Given the description of an element on the screen output the (x, y) to click on. 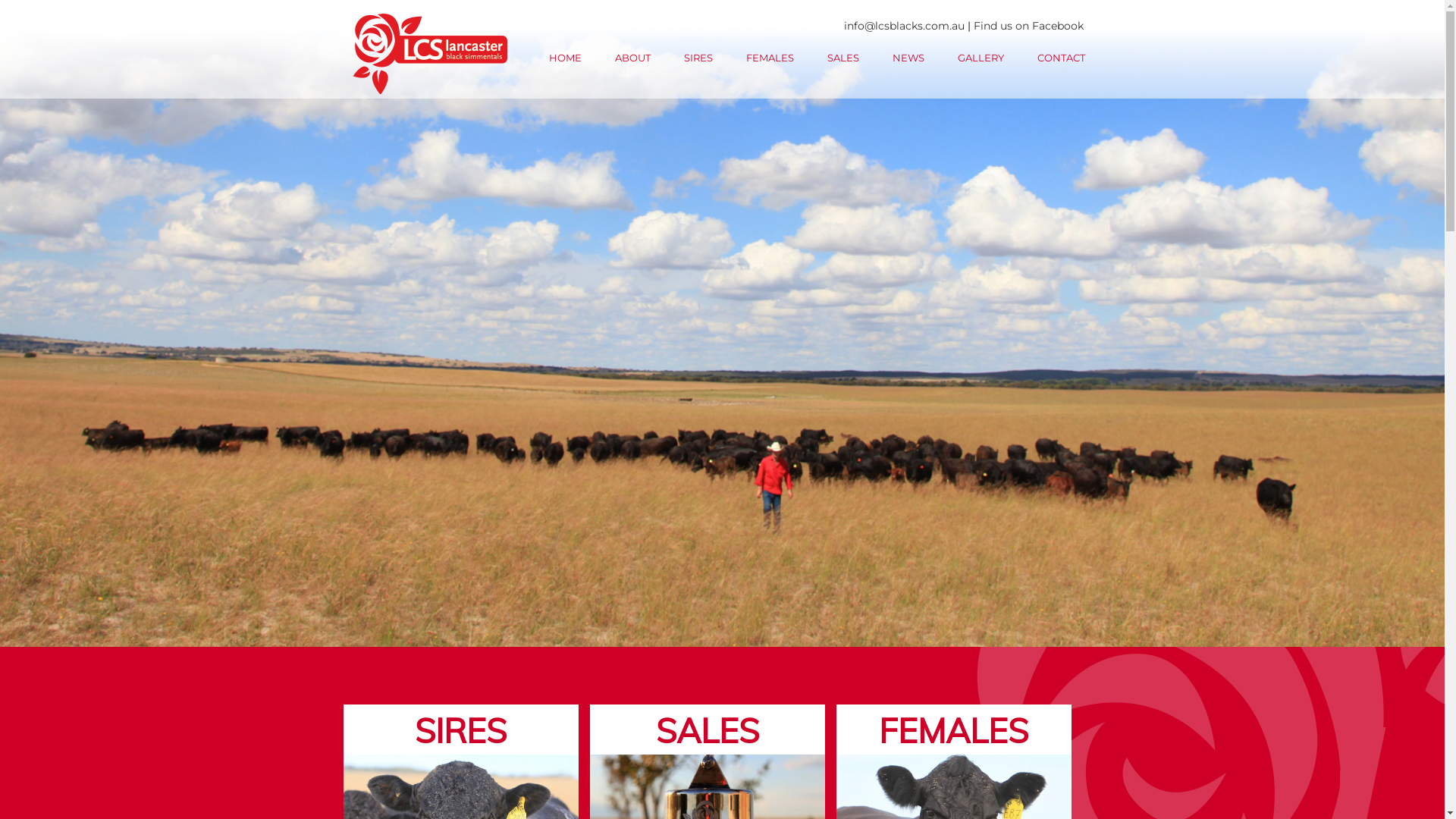
NEWS Element type: text (908, 57)
info@lcsblacks.com.au Element type: text (903, 25)
FEMALES Element type: text (769, 57)
CONTACT Element type: text (1060, 57)
HOME Element type: text (564, 57)
SALES Element type: text (843, 57)
ABOUT Element type: text (632, 57)
GALLERY Element type: text (980, 57)
SIRES Element type: text (697, 57)
Find us on Facebook Element type: text (1028, 25)
